Given the description of an element on the screen output the (x, y) to click on. 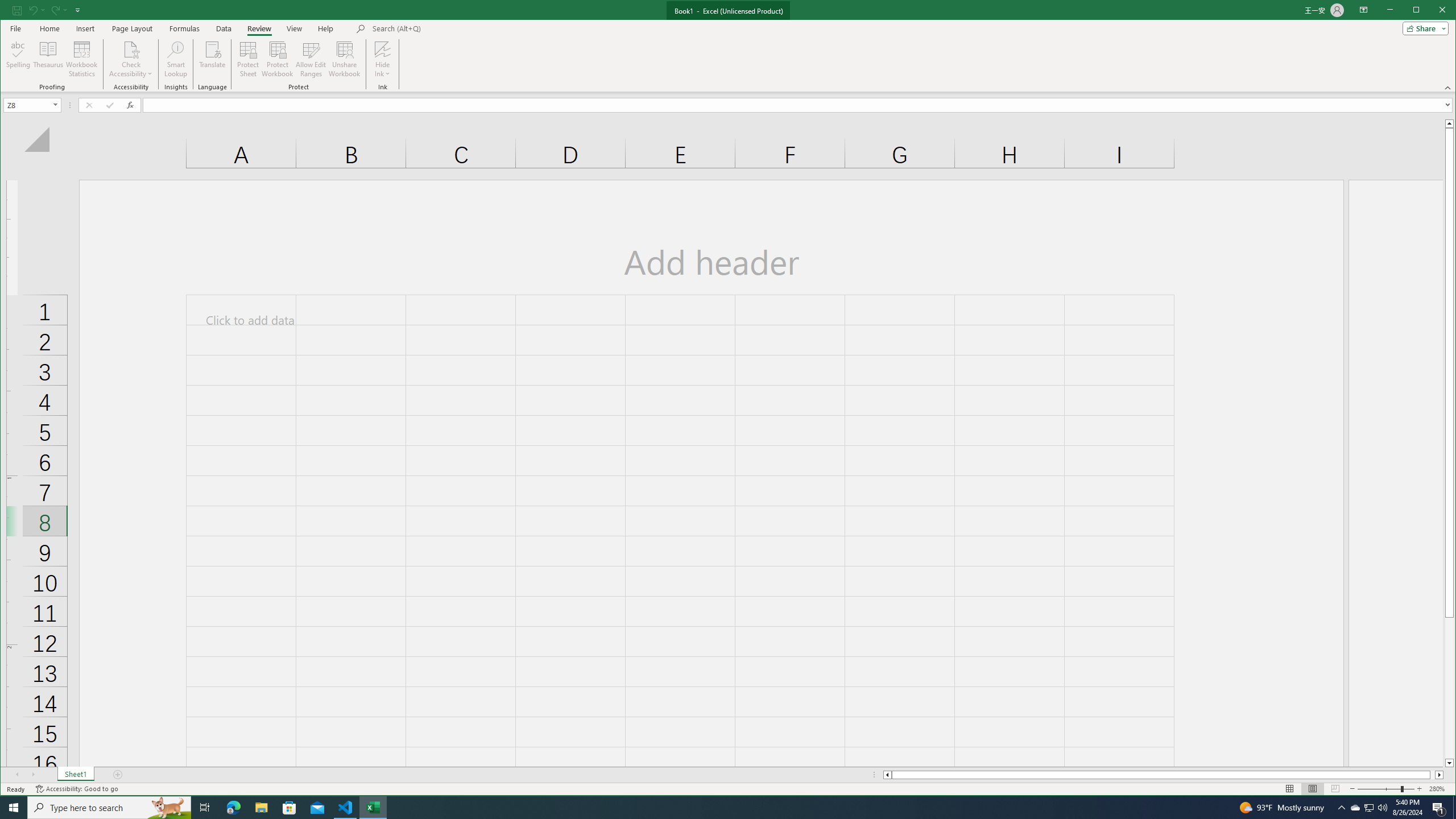
Protect Workbook... (277, 59)
Smart Lookup (176, 59)
Action Center, 1 new notification (1439, 807)
